Given the description of an element on the screen output the (x, y) to click on. 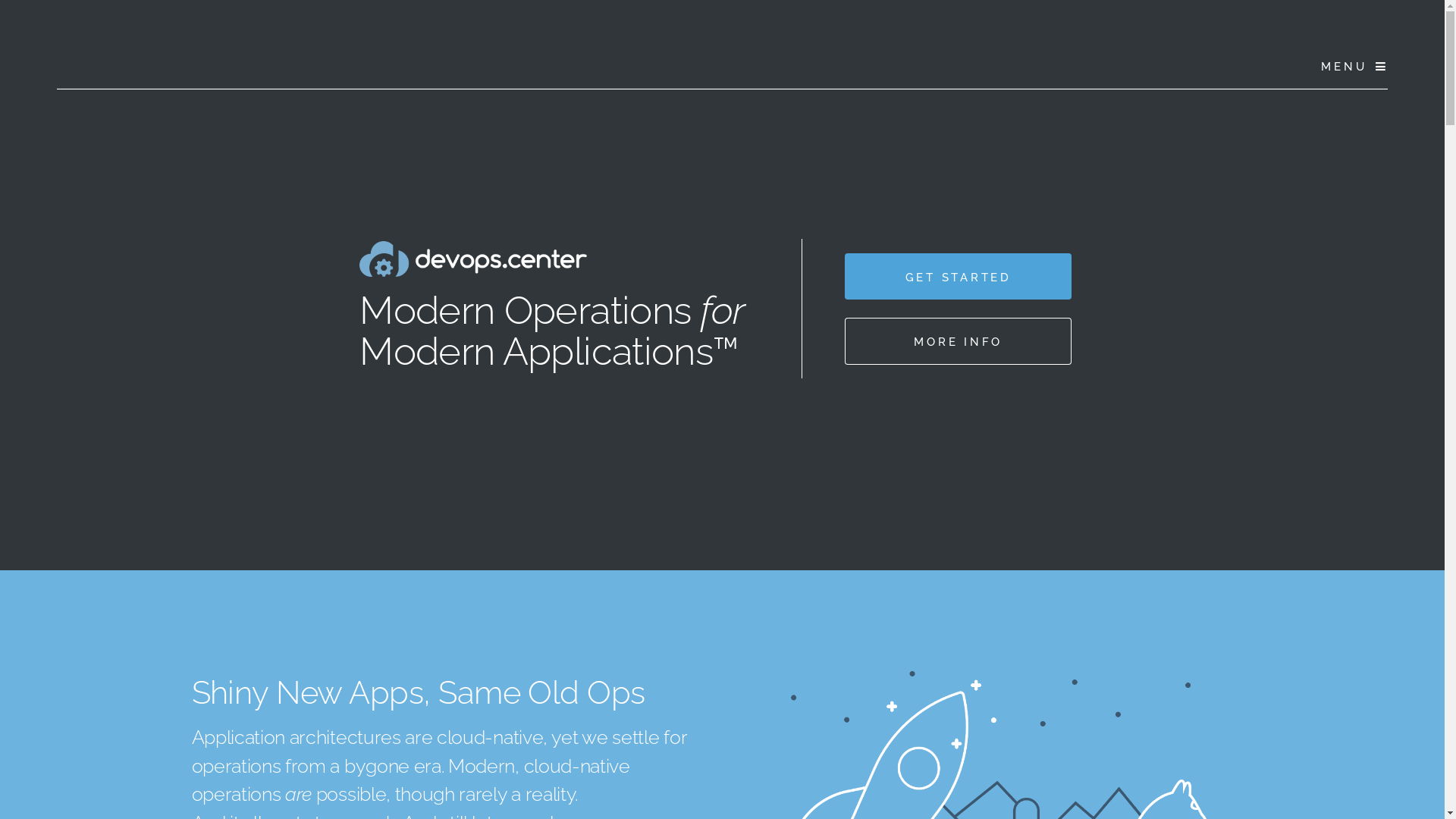
MENU Element type: text (1349, 66)
MORE INFO Element type: text (957, 340)
GET STARTED Element type: text (957, 276)
